Given the description of an element on the screen output the (x, y) to click on. 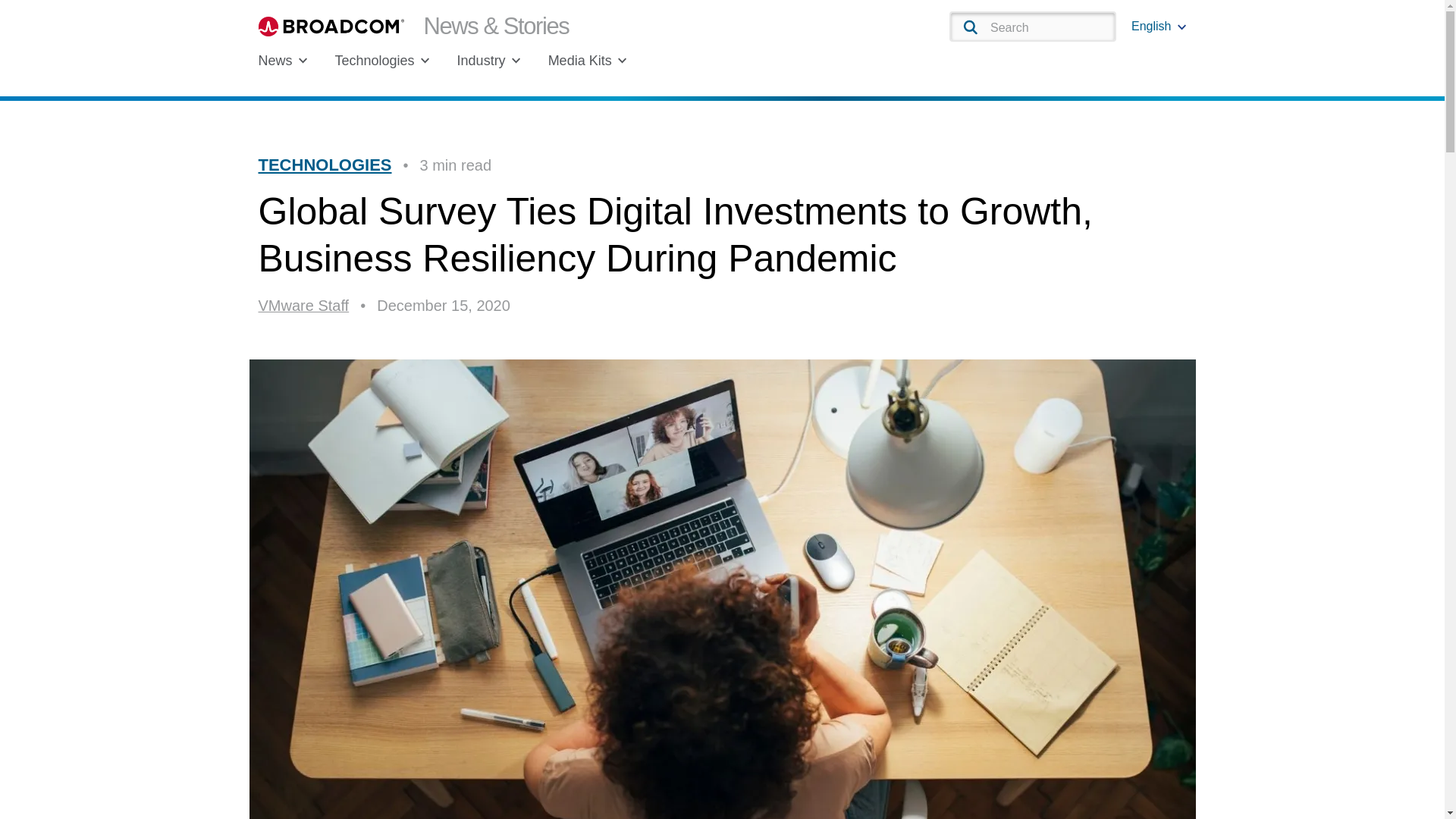
English (1158, 26)
News (282, 60)
Chevron Down Icon (622, 60)
Chevron Down Icon (424, 60)
Chevron Down Icon (1181, 27)
Chevron Down Icon (516, 60)
Broadcom News and Stories (413, 26)
Media Kits (587, 60)
Chevron Down Icon (302, 60)
Industry (489, 60)
